Given the description of an element on the screen output the (x, y) to click on. 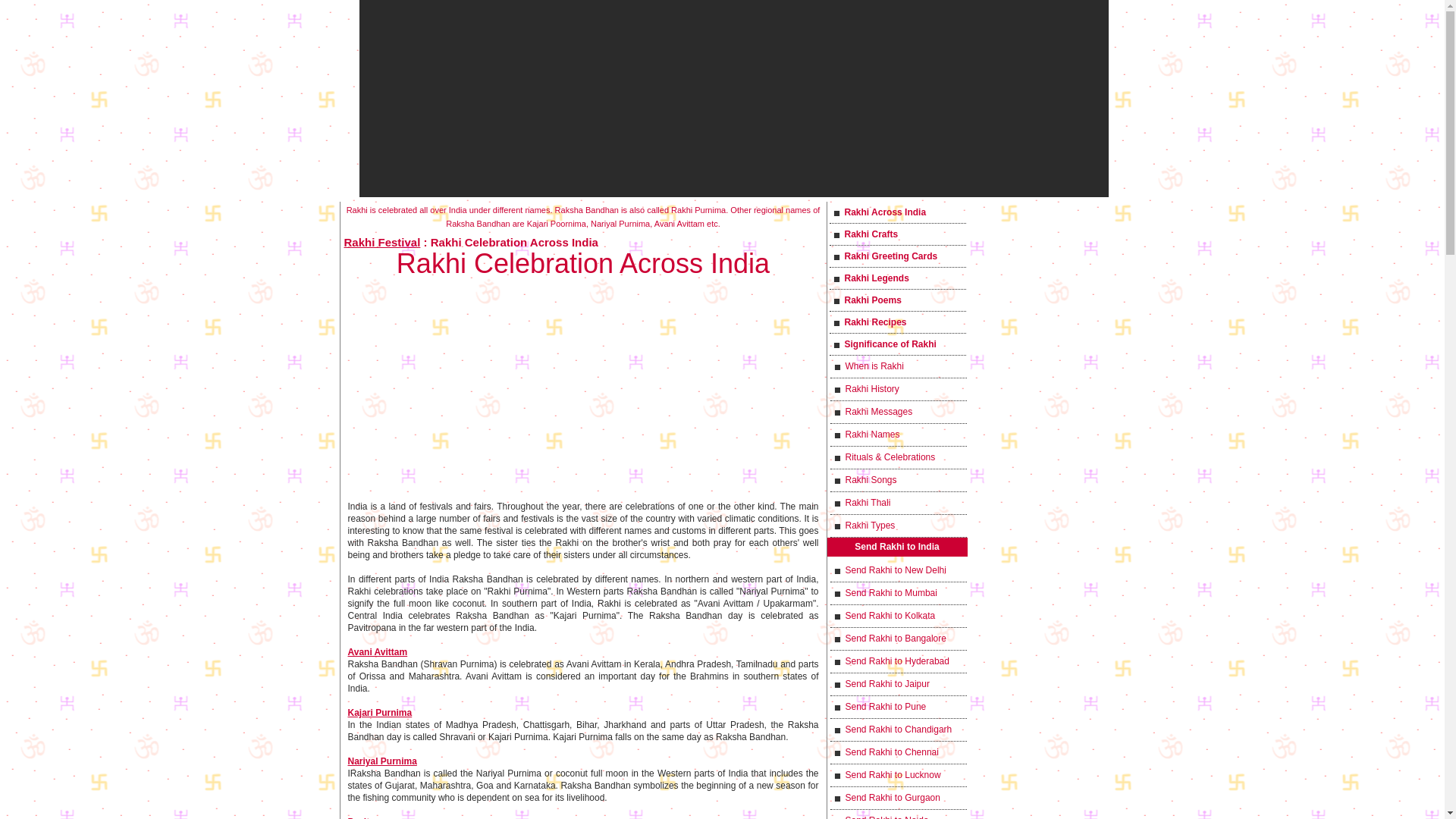
Nariyal Purnima (381, 760)
Kajari Purnima (379, 712)
Pavitropana (372, 817)
Rakhi Festival (381, 241)
Avani Avittam (377, 652)
